Given the description of an element on the screen output the (x, y) to click on. 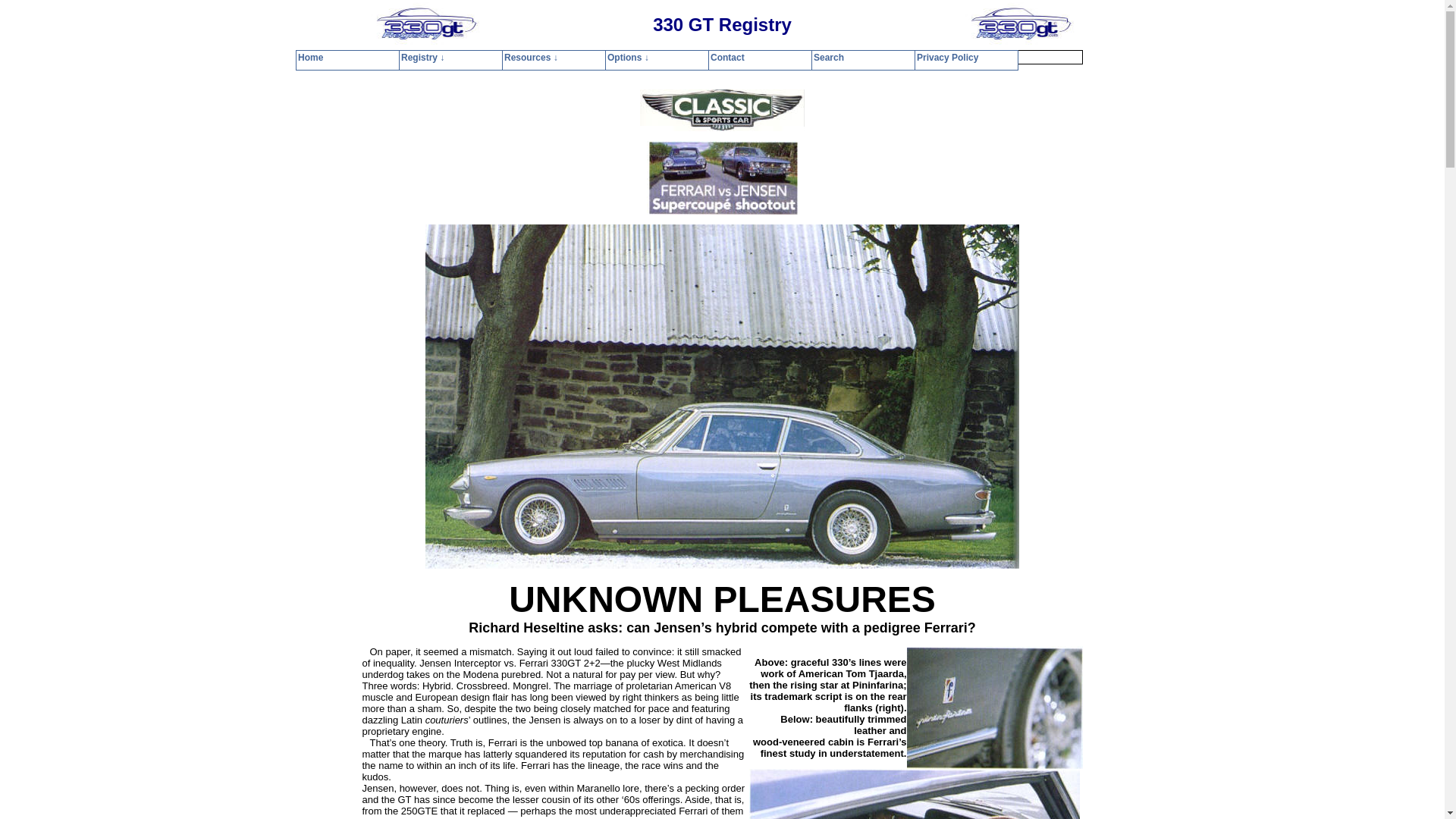
Options Element type: text (713, 56)
Contact Element type: text (758, 56)
Privacy Policy Element type: text (859, 56)
Search Element type: text (801, 56)
Resources Element type: text (661, 56)
Home Element type: text (567, 56)
Registry Element type: text (609, 56)
